Given the description of an element on the screen output the (x, y) to click on. 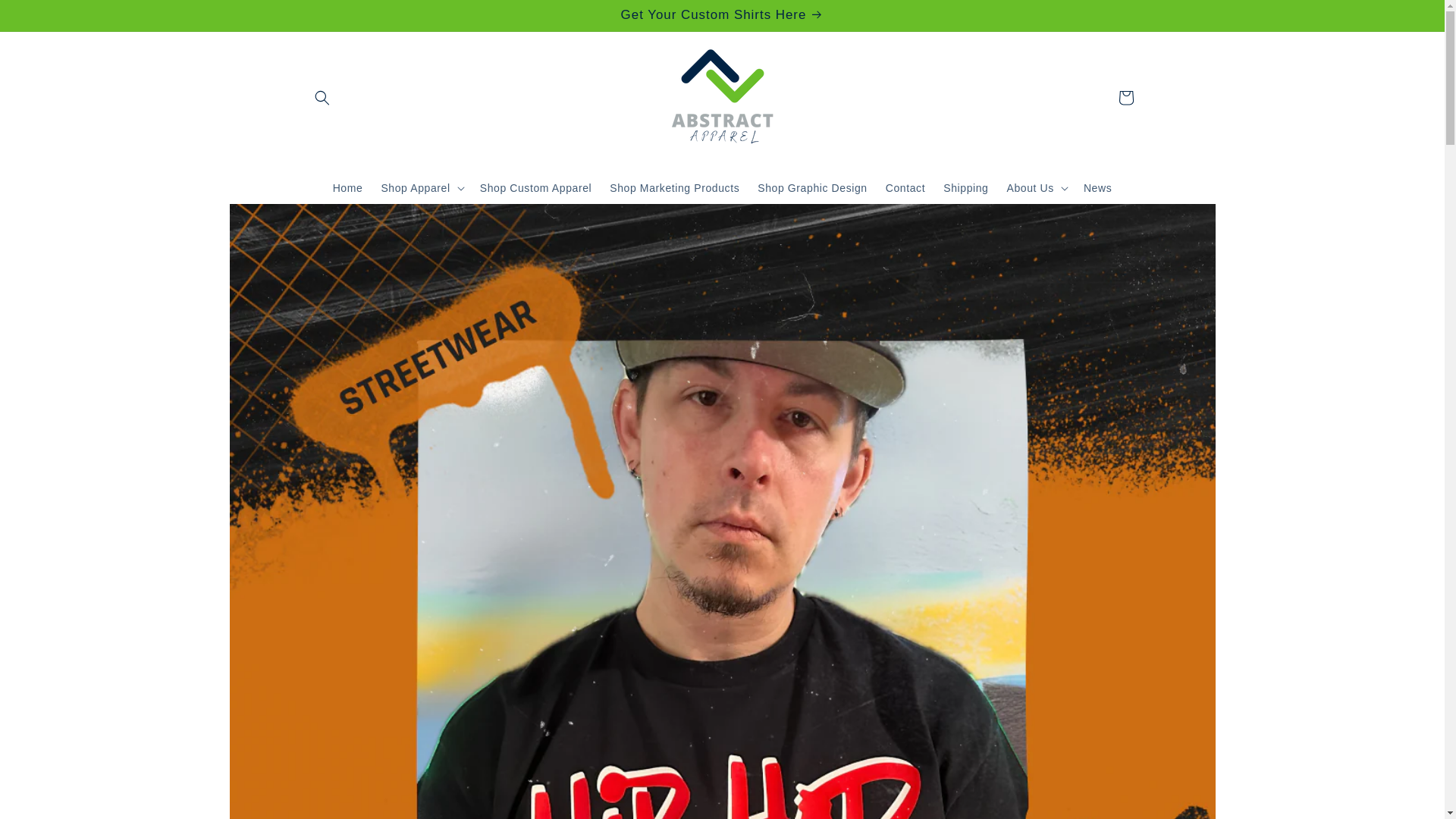
Skip to content (45, 17)
Get Your Custom Shirts Here (721, 15)
